Given the description of an element on the screen output the (x, y) to click on. 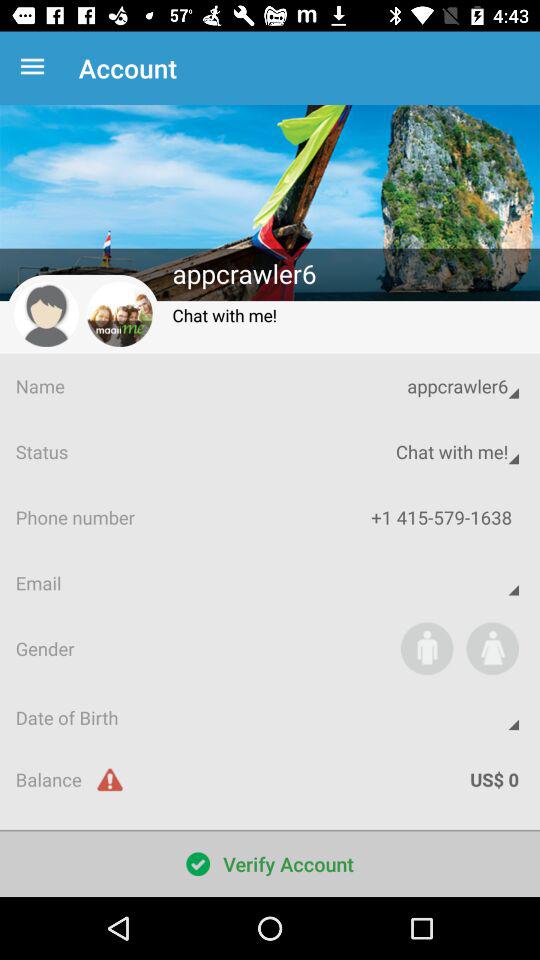
flip to the verify account icon (270, 863)
